Given the description of an element on the screen output the (x, y) to click on. 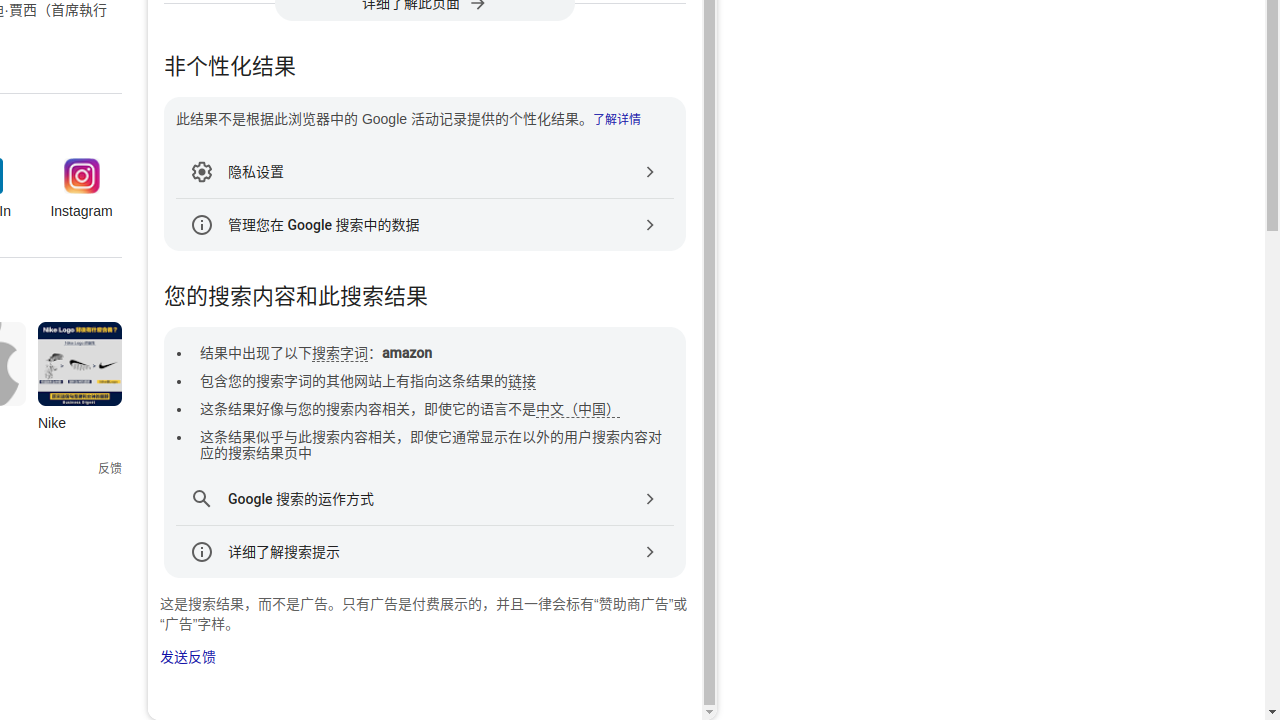
隐私设置 Element type: link (425, 172)
结果中出现了以下搜索字词：amazon Element type: push-button (316, 353)
